Given the description of an element on the screen output the (x, y) to click on. 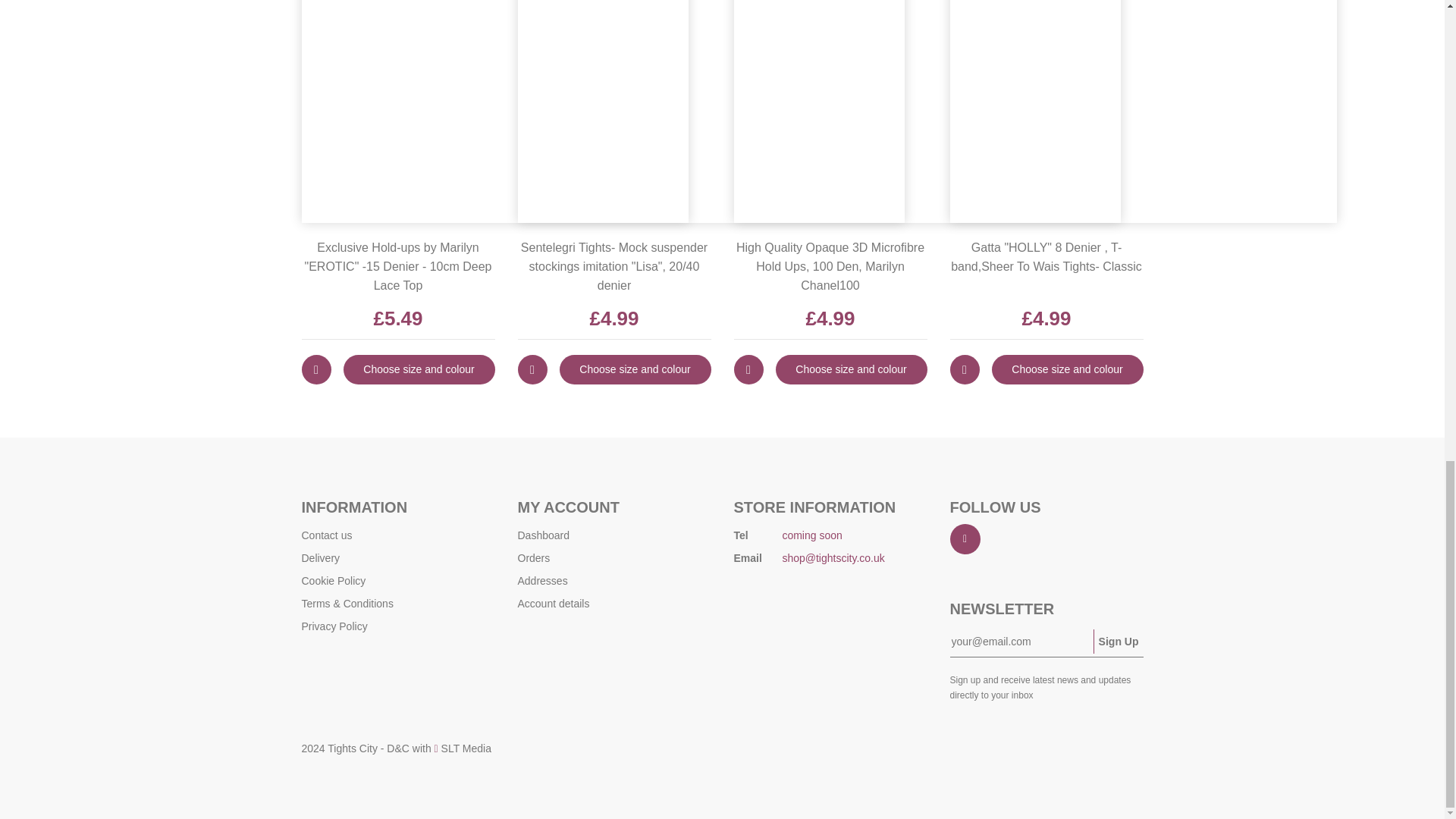
Sign Up (1117, 641)
